Given the description of an element on the screen output the (x, y) to click on. 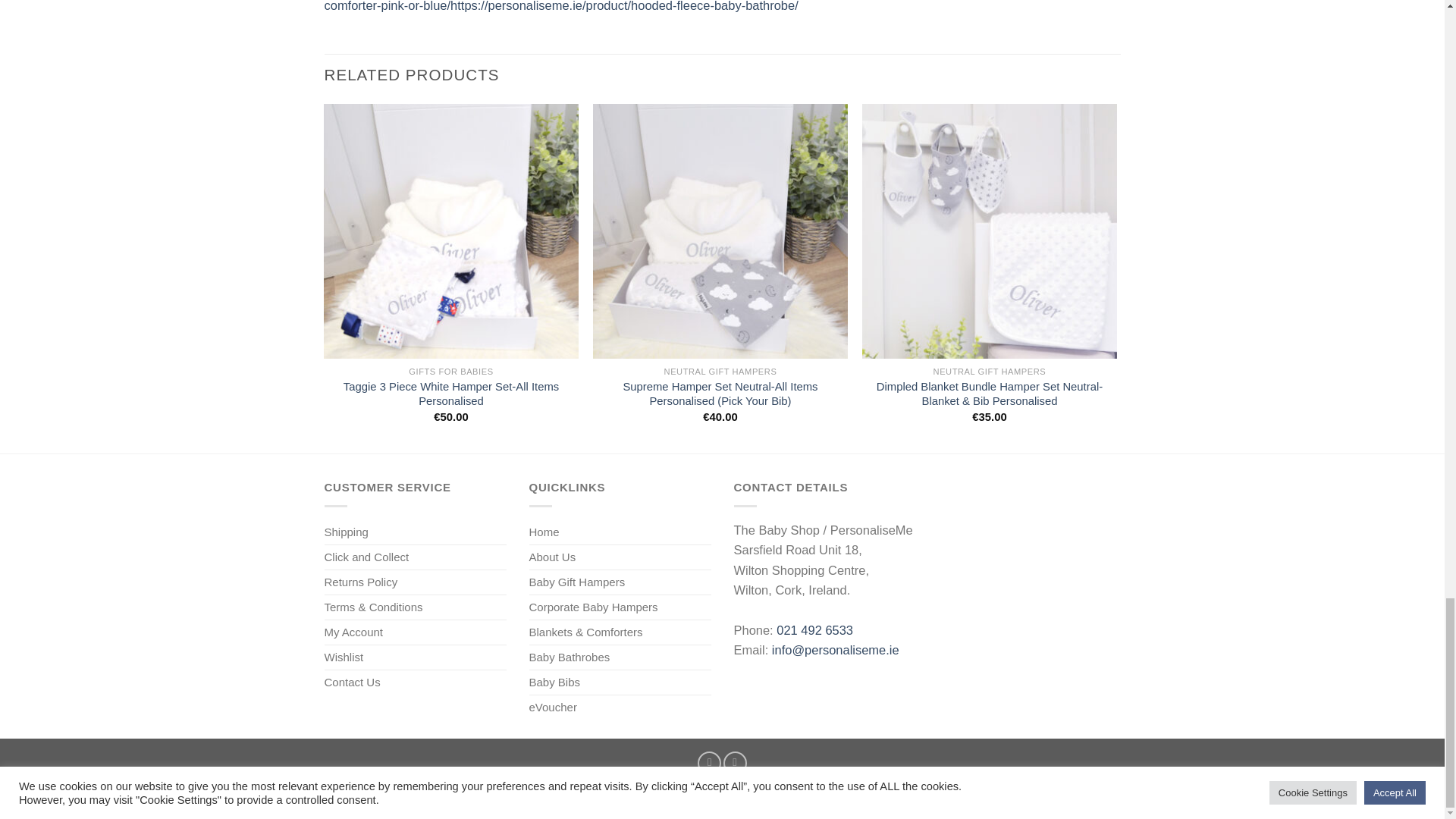
Follow on Facebook (708, 762)
Follow on Instagram (734, 762)
